Given the description of an element on the screen output the (x, y) to click on. 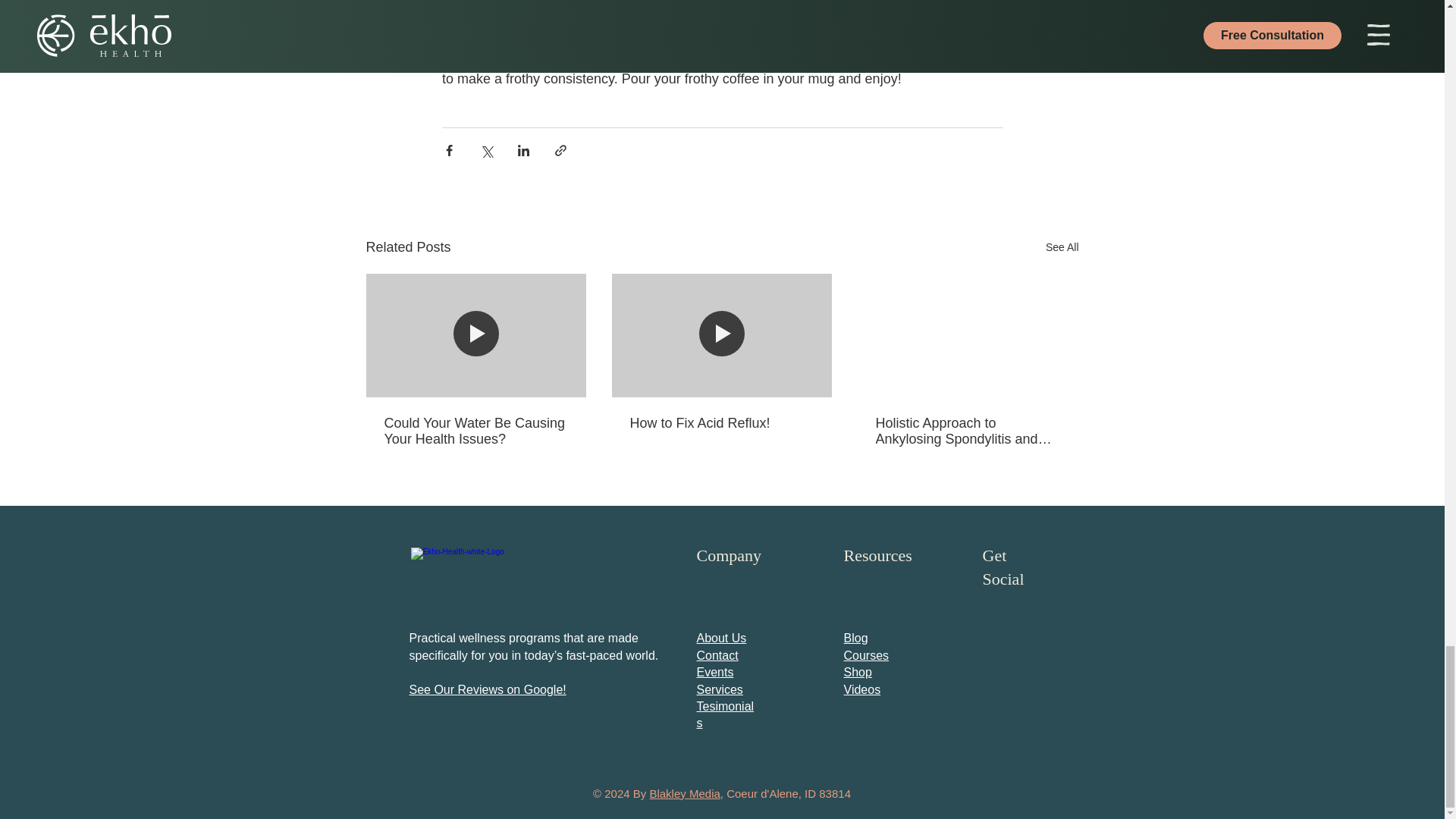
Could Your Water Be Causing Your Health Issues? (475, 431)
Events (714, 671)
Videos (861, 689)
About Us (720, 637)
See All (1061, 247)
How to Fix Acid Reflux! (720, 423)
Tesimonials (724, 714)
See Our Reviews on Google! (487, 689)
Contact (716, 655)
Blog (855, 637)
